Given the description of an element on the screen output the (x, y) to click on. 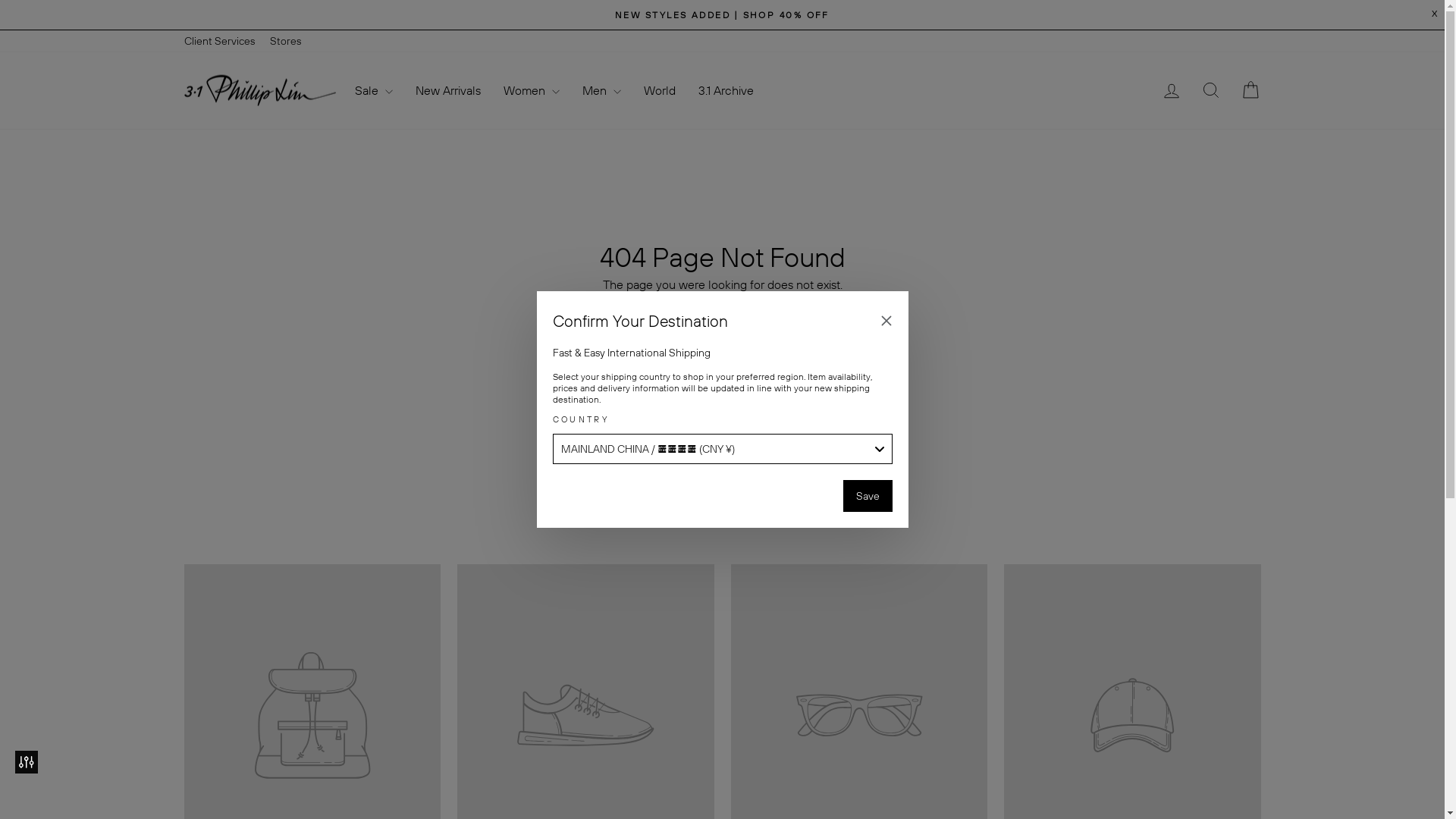
Client Services Element type: text (218, 41)
New Arrivals Element type: text (447, 90)
Stores Element type: text (285, 41)
account
Log in Element type: text (1170, 90)
VIEW ALL Element type: text (722, 512)
3.1 Archive Element type: text (726, 90)
Save Element type: text (867, 495)
Cart Element type: text (1249, 90)
World Element type: text (659, 90)
Continue shopping Element type: text (721, 308)
icon-search
Search Element type: text (1210, 90)
NEW STYLES ADDED | SHOP 40% OFF Element type: text (722, 14)
